Given the description of an element on the screen output the (x, y) to click on. 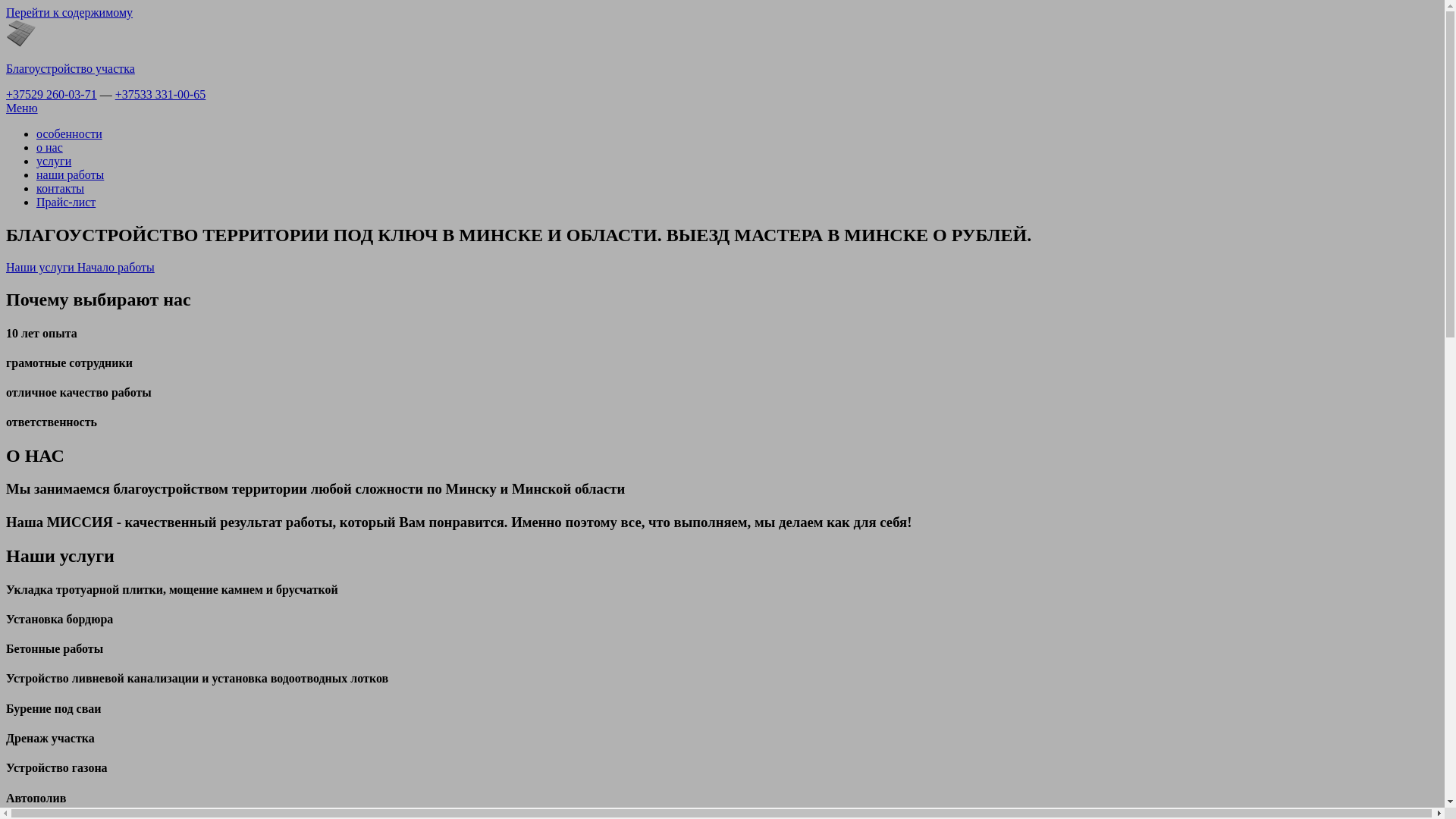
+37533 331-00-65 Element type: text (160, 93)
+37529 260-03-71 Element type: text (51, 93)
